Given the description of an element on the screen output the (x, y) to click on. 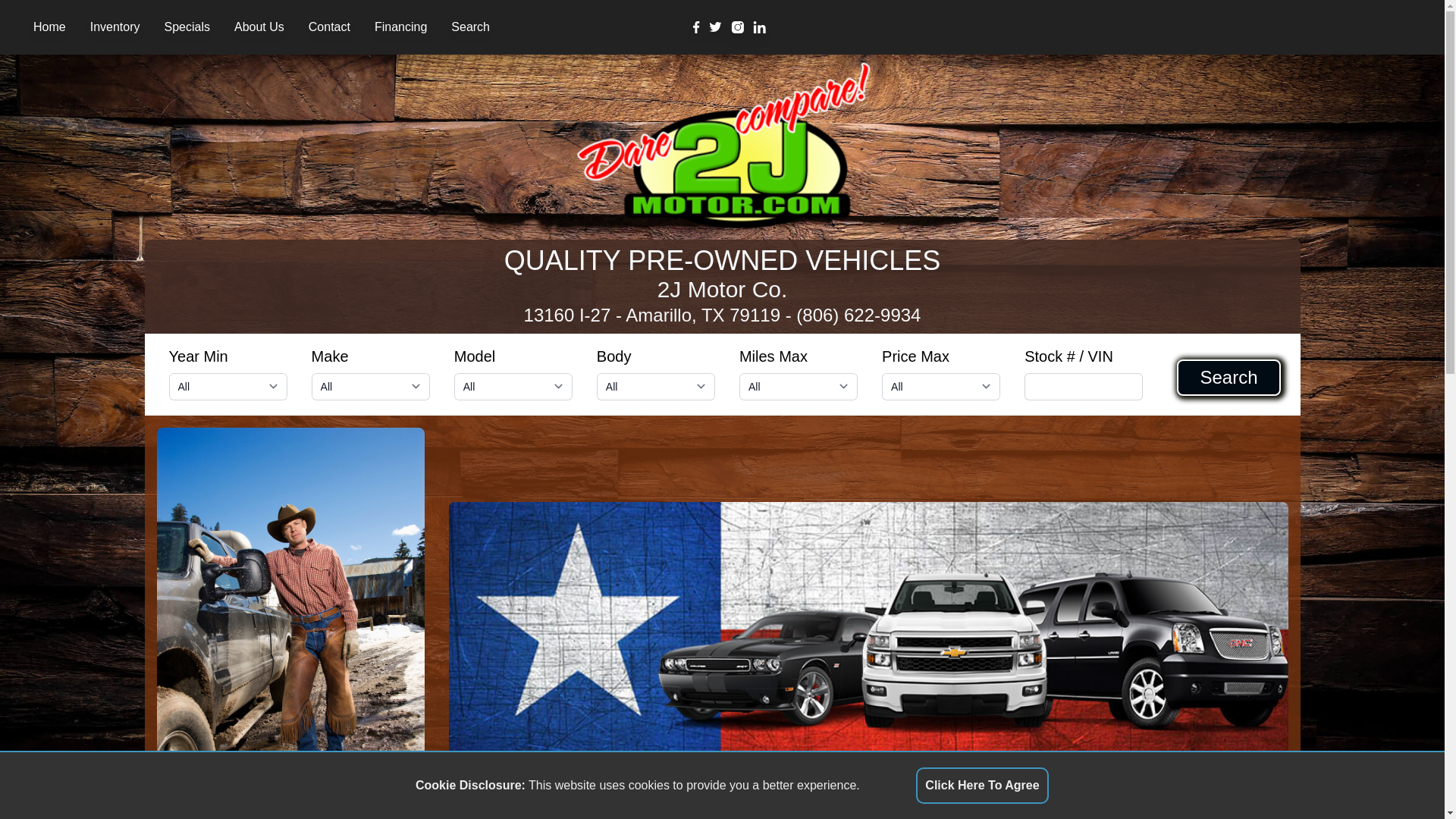
(806) 622-9934 Element type: text (858, 314)
Financing Element type: text (400, 27)
Search Element type: text (1228, 377)
Contact Element type: text (329, 27)
Search Element type: text (470, 27)
13160 I-27
- Amarillo, TX 79119 Element type: text (652, 314)
Specials Element type: text (186, 27)
Inventory Element type: text (115, 27)
About Us Element type: text (259, 27)
Home Element type: text (49, 27)
